Given the description of an element on the screen output the (x, y) to click on. 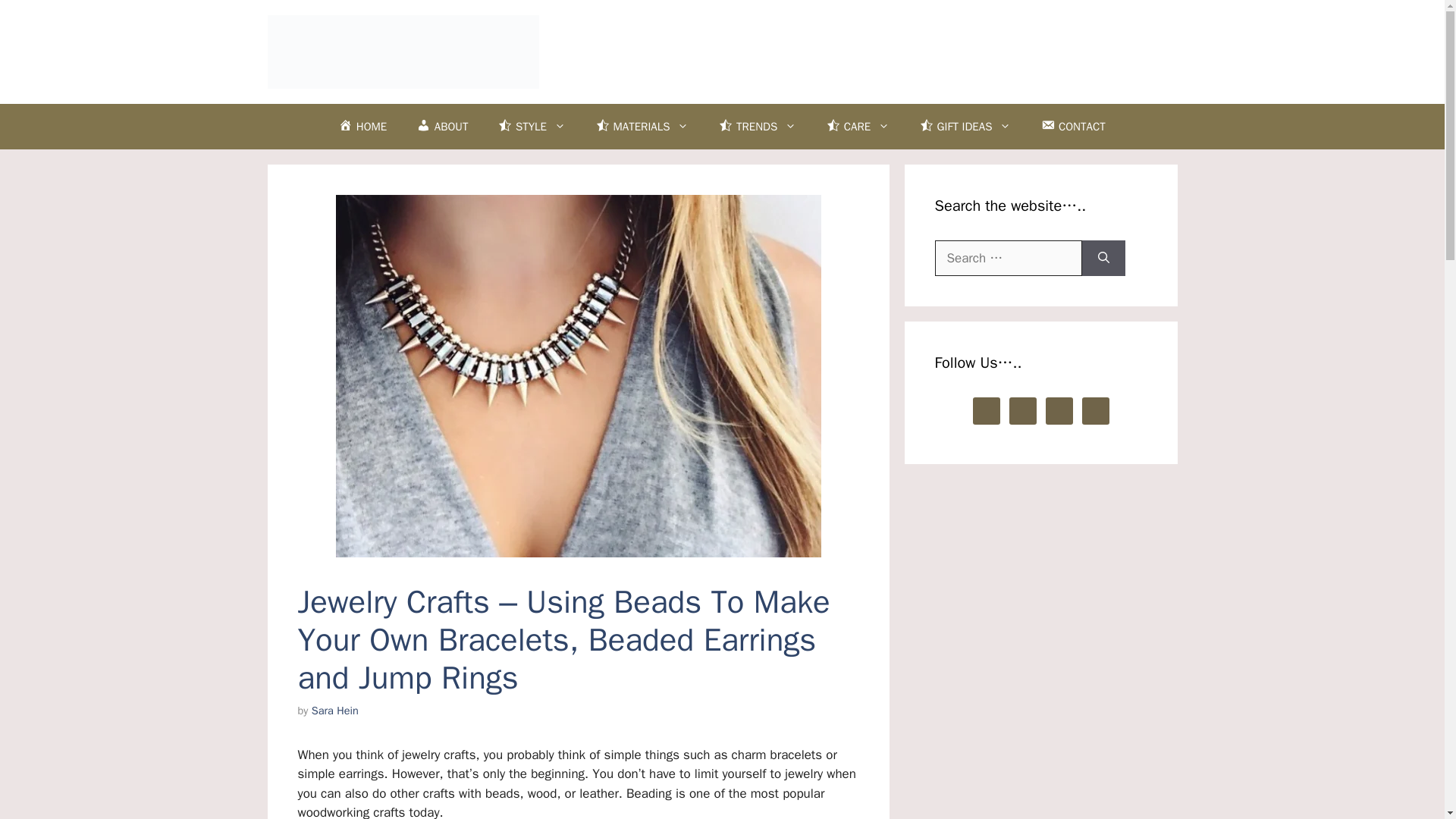
Search for: (1007, 258)
View all posts by Sara Hein (334, 710)
